Given the description of an element on the screen output the (x, y) to click on. 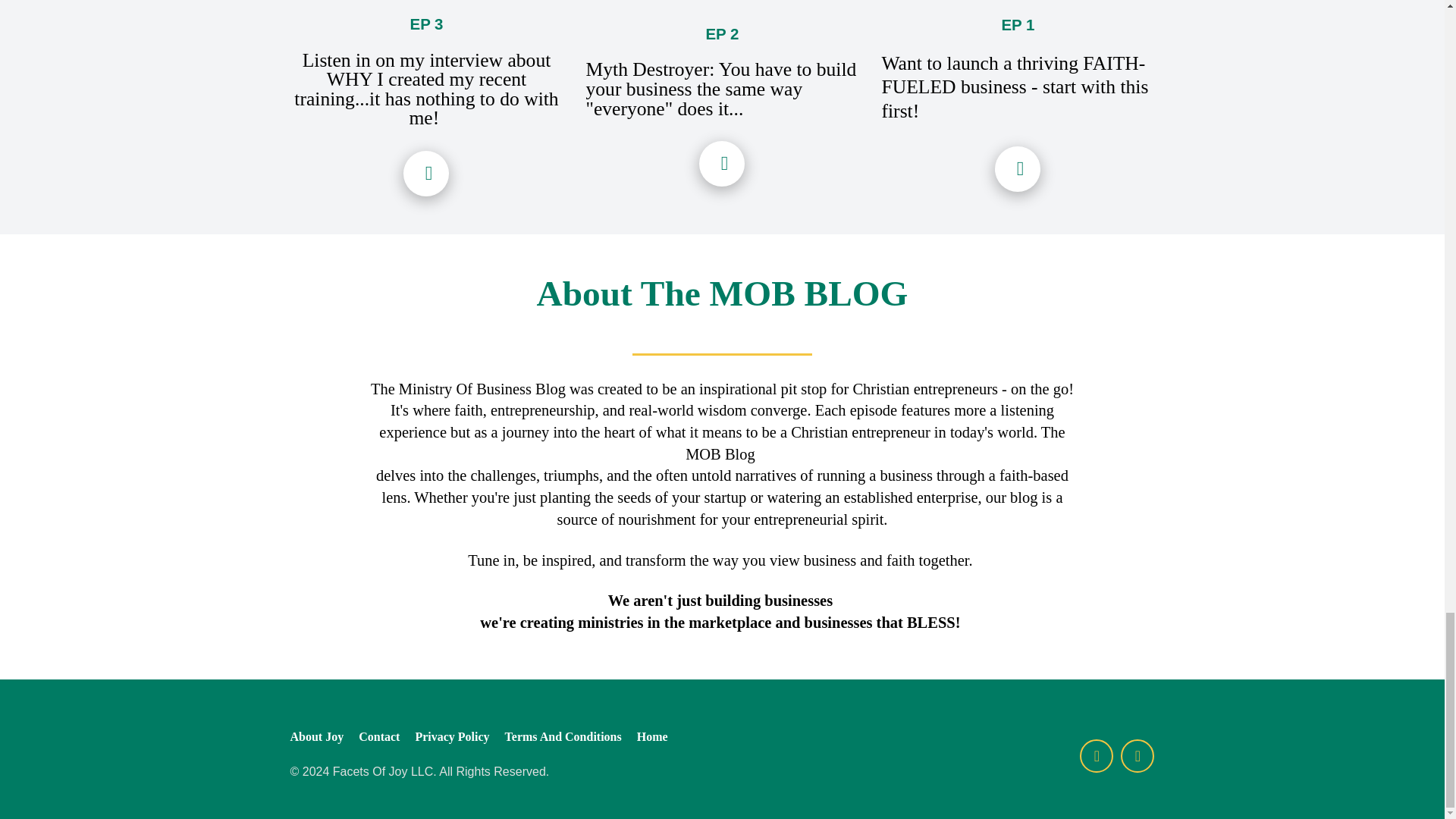
Privacy Policy (451, 736)
About Joy (319, 736)
Terms And Conditions (562, 736)
Home (648, 736)
Contact (378, 736)
